Given the description of an element on the screen output the (x, y) to click on. 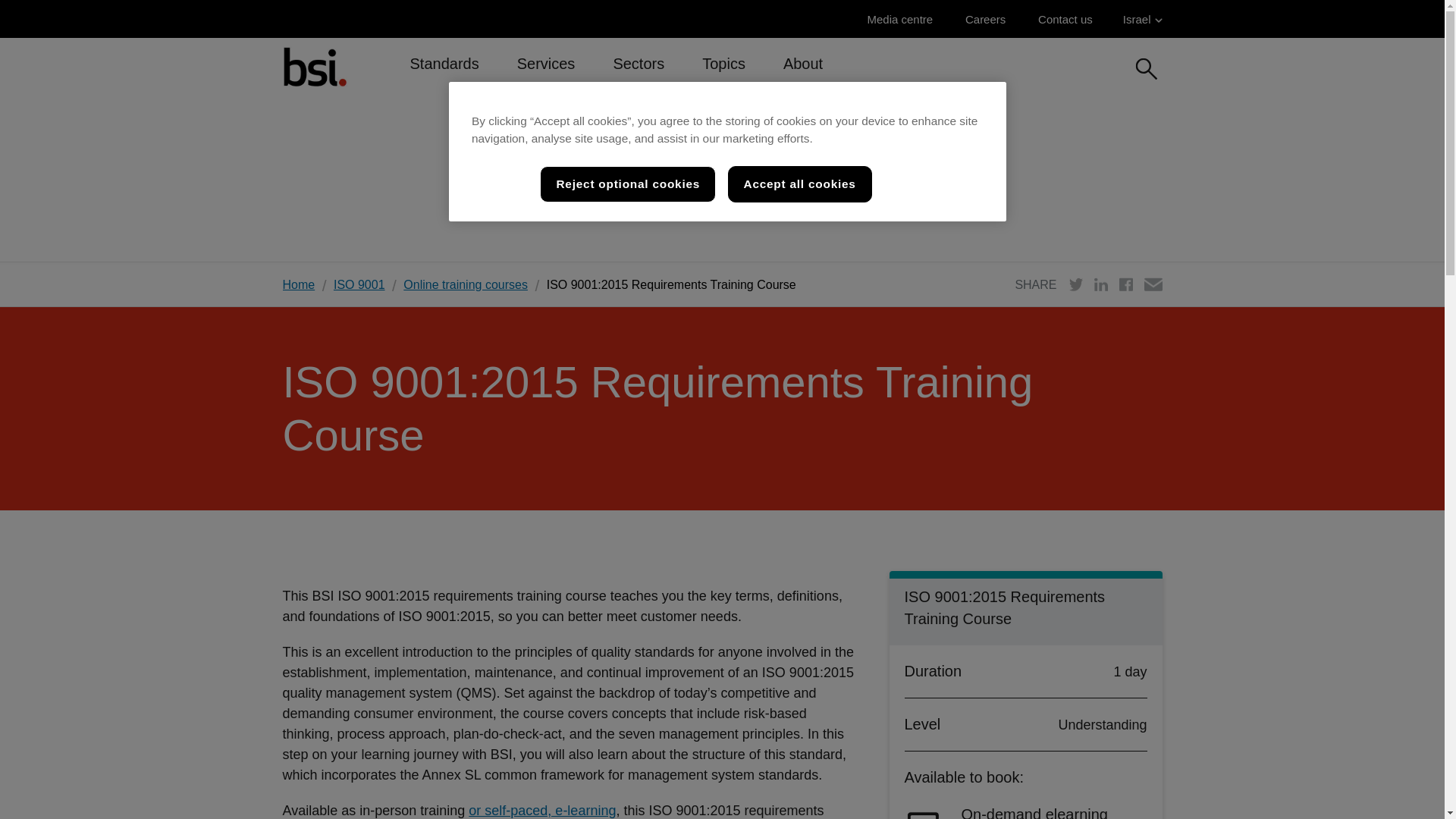
Israel (1141, 19)
logo (314, 65)
Standards (444, 70)
Careers (989, 19)
Media centre (903, 19)
Contact us (1069, 19)
Contact us (1069, 19)
Careers (989, 19)
Media centre (903, 19)
